Given the description of an element on the screen output the (x, y) to click on. 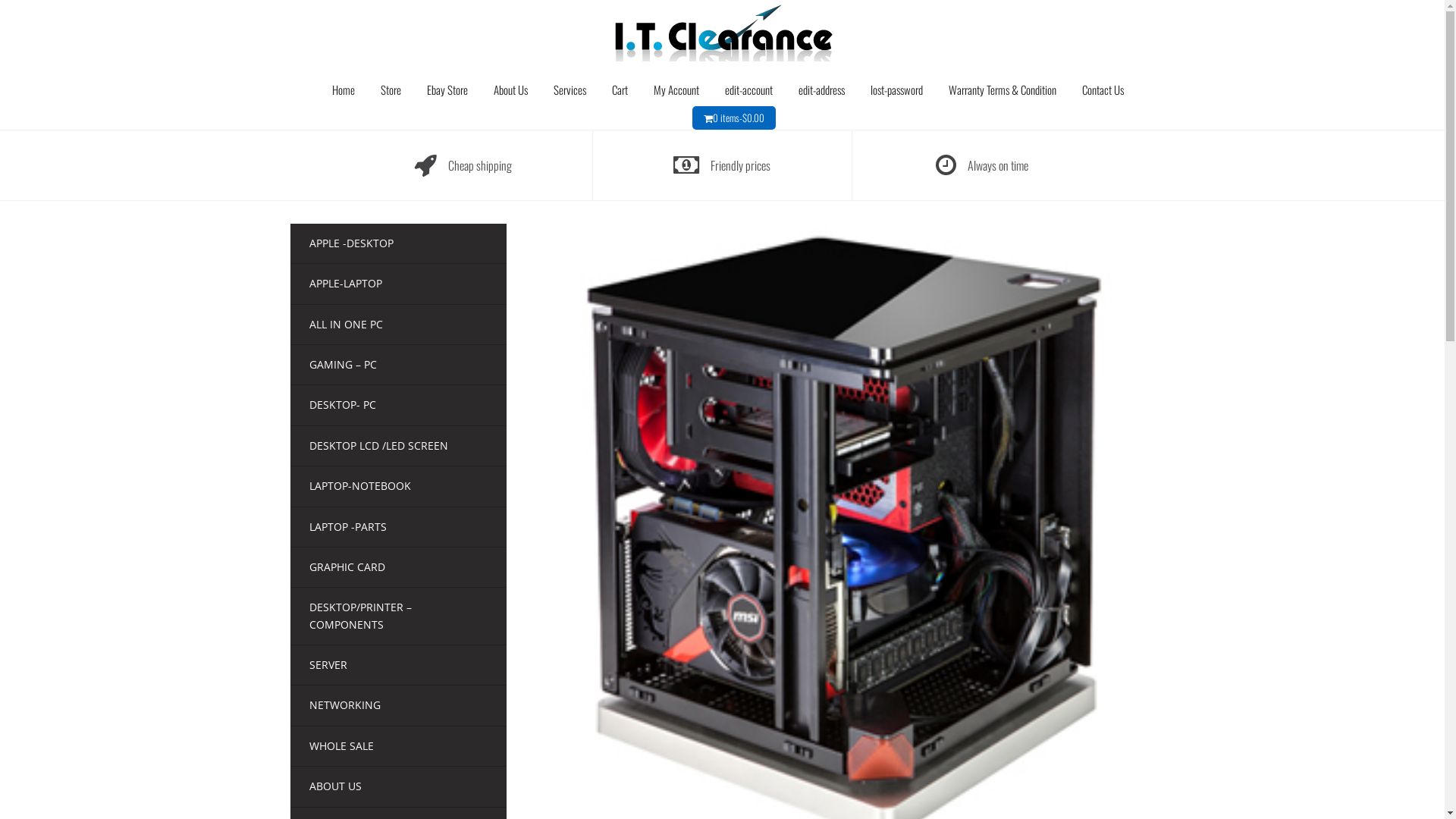
DESKTOP- PC Element type: text (342, 404)
Cart Element type: text (619, 89)
LAPTOP-NOTEBOOK Element type: text (360, 485)
My Account Element type: text (676, 89)
SERVER Element type: text (328, 664)
NETWORKING Element type: text (344, 704)
About Us Element type: text (510, 89)
APPLE-LAPTOP Element type: text (345, 283)
0 items-$0.00 Element type: text (738, 117)
APPLE -DESKTOP Element type: text (351, 242)
Services Element type: text (569, 89)
DESKTOP LCD /LED SCREEN Element type: text (378, 445)
Warranty Terms & Condition Element type: text (1002, 89)
GRAPHIC CARD Element type: text (347, 566)
ABOUT US Element type: text (335, 785)
Ebay Store Element type: text (446, 89)
edit-account Element type: text (748, 89)
LAPTOP -PARTS Element type: text (347, 526)
ALL IN ONE PC Element type: text (345, 323)
edit-address Element type: text (821, 89)
Store Element type: text (390, 89)
WHOLE SALE Element type: text (341, 745)
lost-password Element type: text (896, 89)
IT CLEARANCE Element type: hover (721, 28)
Home Element type: text (343, 89)
Contact Us Element type: text (1102, 89)
